Given the description of an element on the screen output the (x, y) to click on. 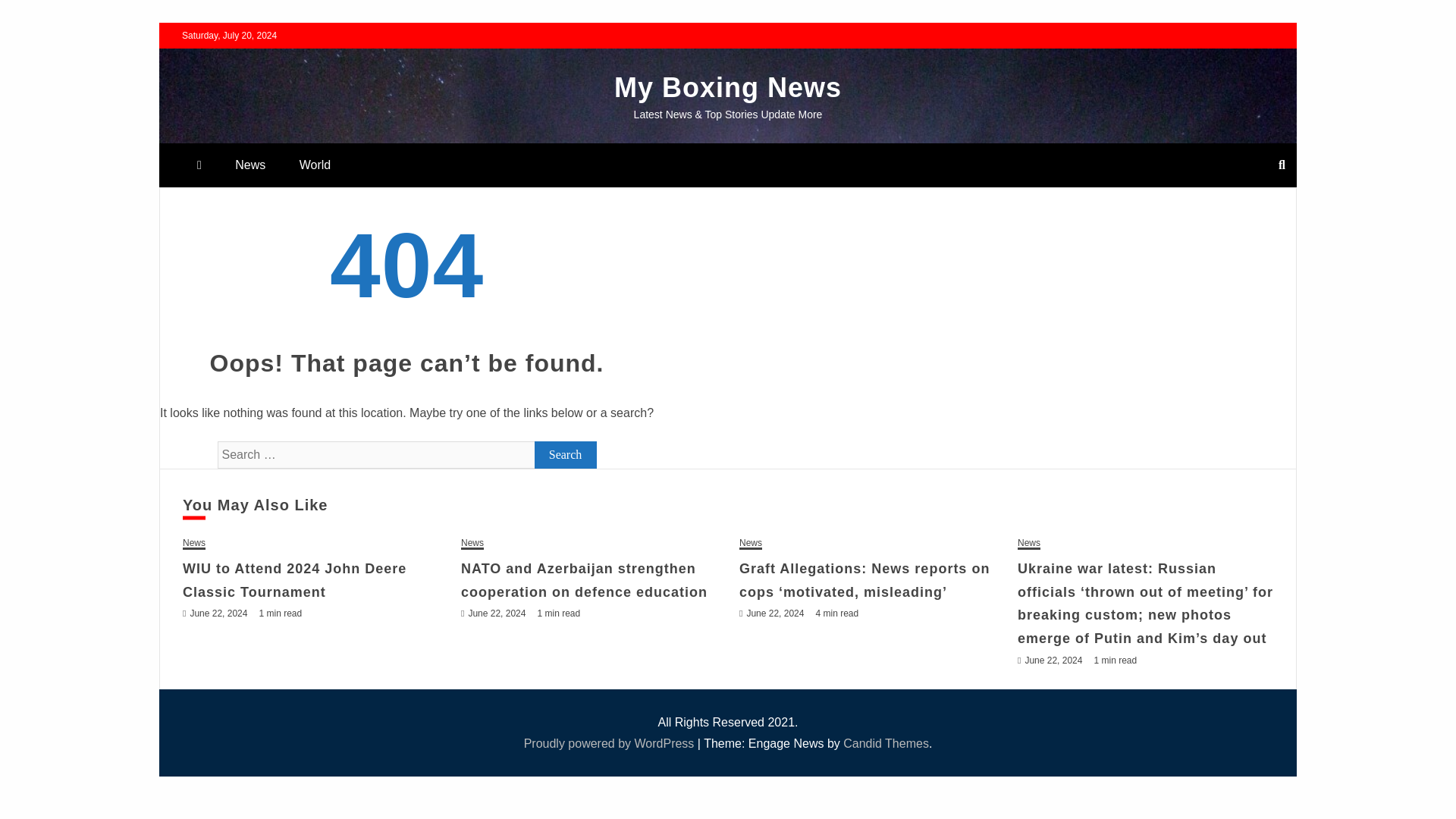
World (314, 164)
Search (565, 454)
Proudly powered by WordPress (610, 743)
June 22, 2024 (774, 613)
WIU to Attend 2024 John Deere Classic Tournament (294, 580)
Candid Themes (885, 743)
News (1029, 543)
Search (565, 454)
News (194, 543)
News (750, 543)
My Boxing News (727, 87)
June 22, 2024 (218, 613)
June 22, 2024 (496, 613)
June 22, 2024 (1053, 660)
